Given the description of an element on the screen output the (x, y) to click on. 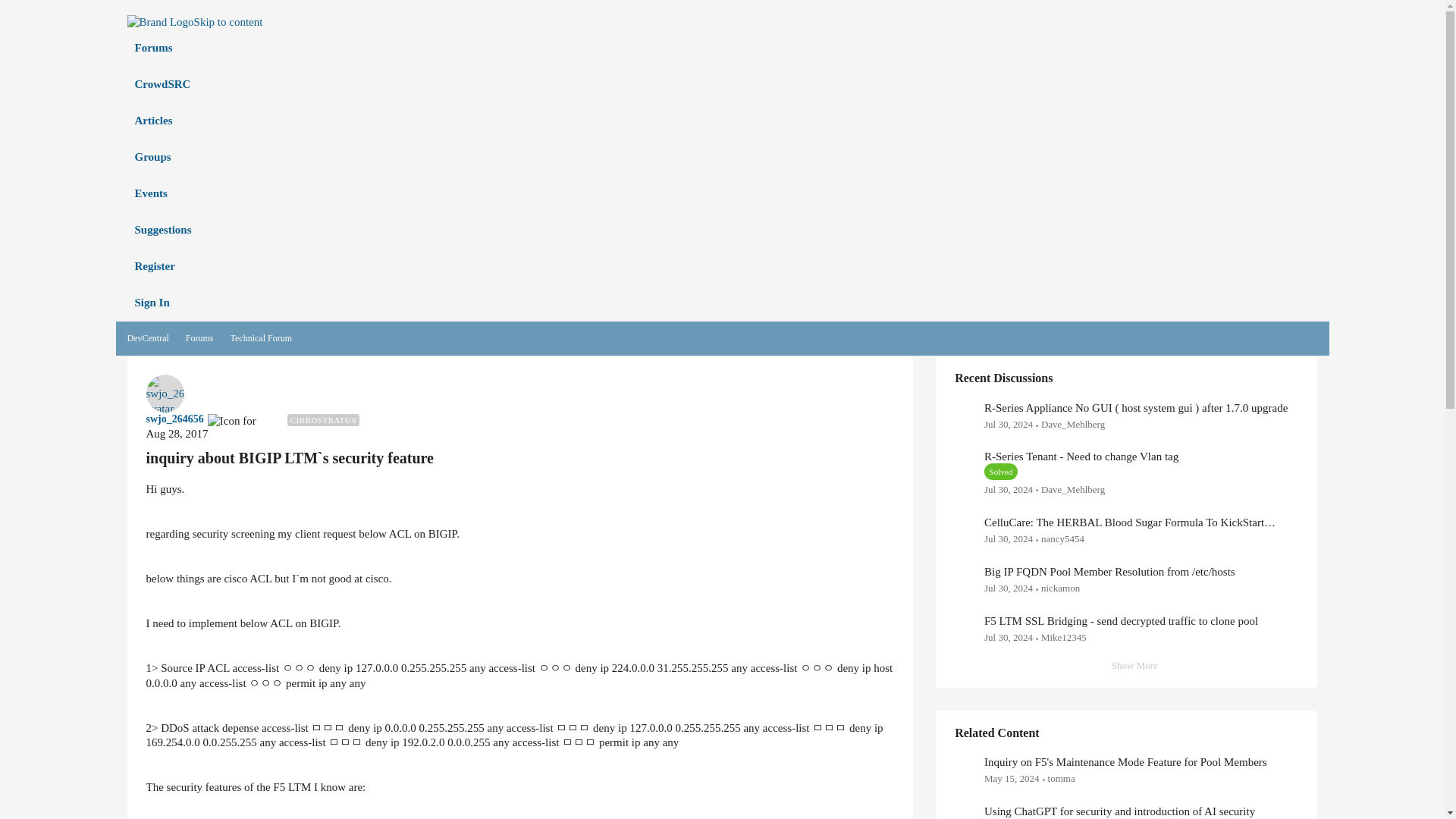
July 30, 2024 at 3:06 PM (1008, 538)
Jul 30, 2024 (1008, 539)
July 30, 2024 at 3:29 PM (1008, 489)
July 30, 2024 at 2:33 PM (1008, 587)
May 15, 2024 at 7:27 AM (1011, 778)
August 28, 2017 at 11:13 AM (176, 433)
Jul 30, 2024 (1008, 424)
Forums (200, 338)
Show More (1126, 666)
Jul 30, 2024 (1008, 490)
July 30, 2024 at 1:59 PM (1008, 636)
Technical Forum (261, 338)
R-Series Tenant - Need to change Vlan tag (1080, 456)
Jul 30, 2024 (1008, 588)
Skip to content (228, 21)
